Given the description of an element on the screen output the (x, y) to click on. 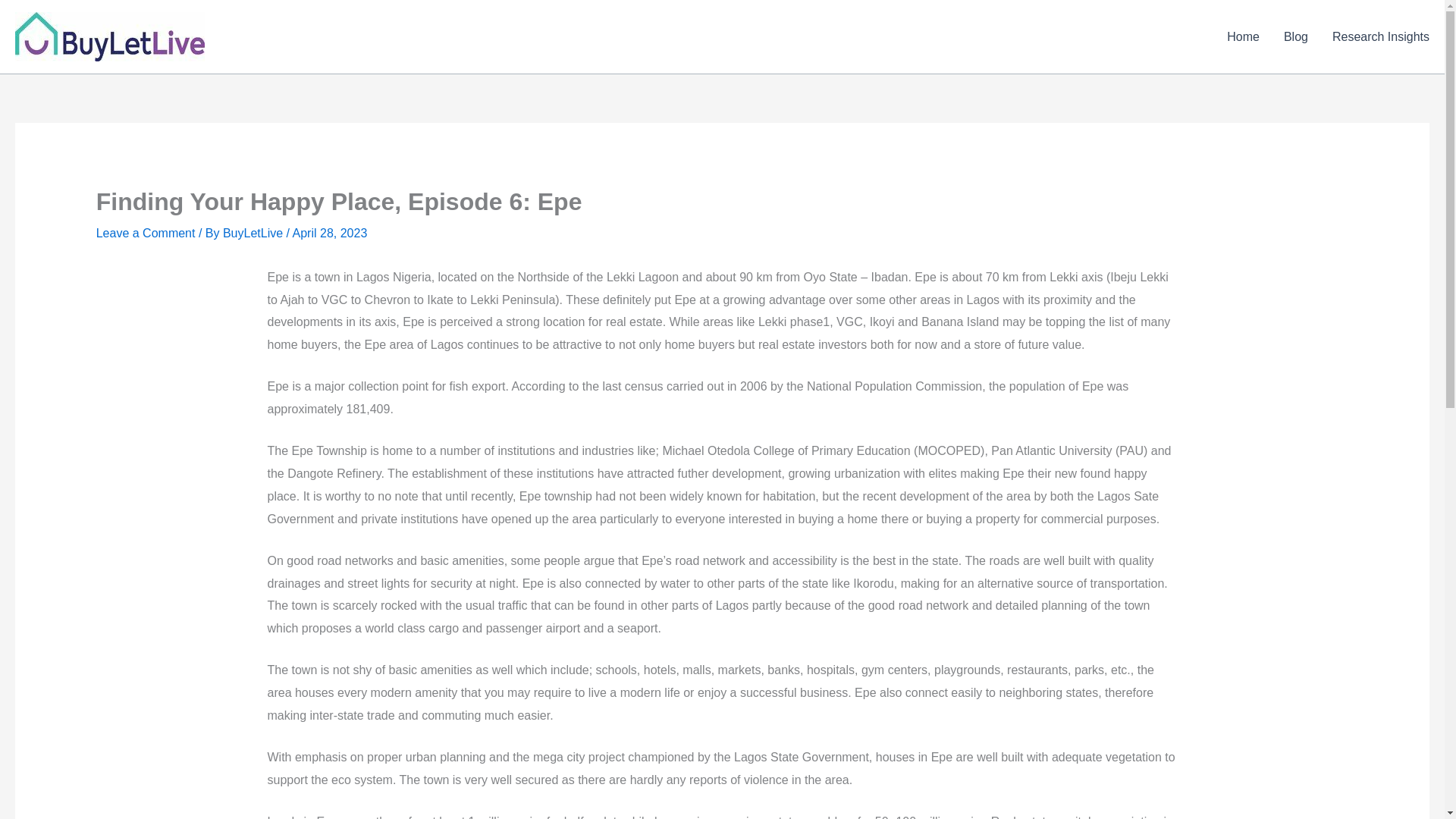
View all posts by BuyLetLive (254, 232)
Home (1242, 36)
Research Insights (1374, 36)
BuyLetLive (254, 232)
Leave a Comment (145, 232)
Blog (1295, 36)
